Given the description of an element on the screen output the (x, y) to click on. 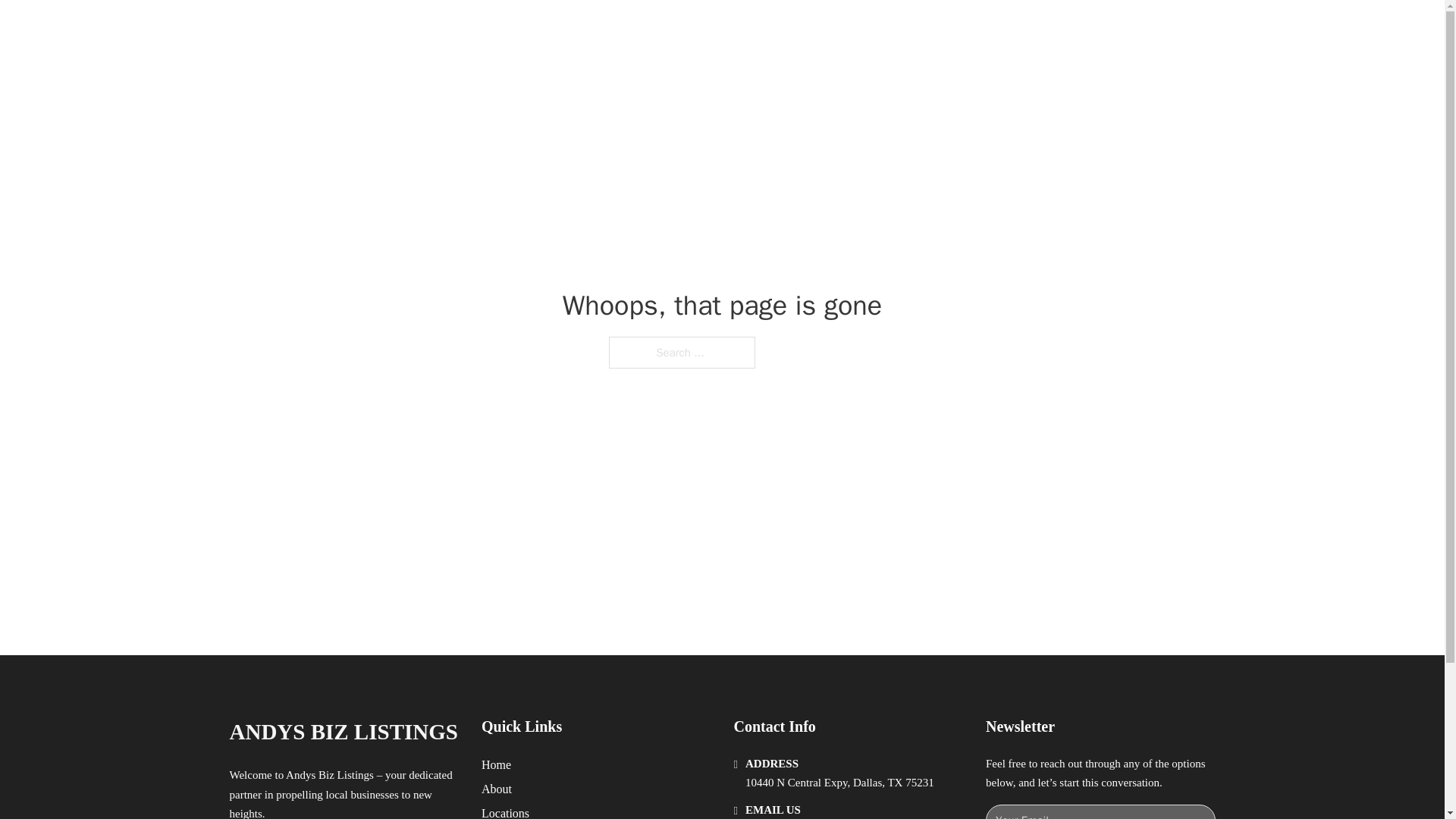
LOCATIONS (978, 29)
Home (496, 764)
ANDYS BIZ LISTINGS (342, 732)
ANDYS BIZ LISTINGS (413, 28)
About (496, 788)
Locations (505, 811)
HOME (907, 29)
